Given the description of an element on the screen output the (x, y) to click on. 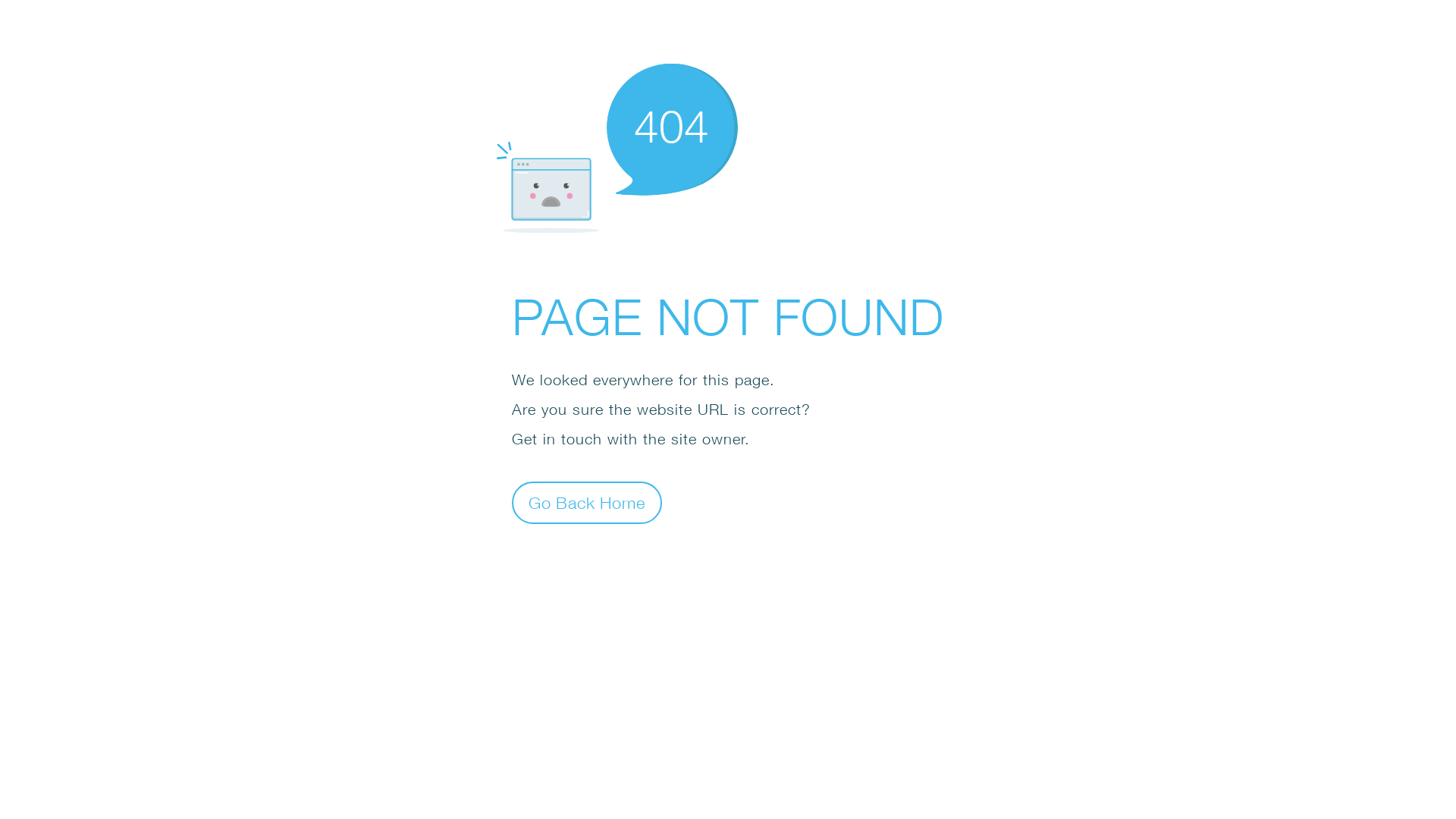
Go Back Home Element type: text (586, 502)
